Given the description of an element on the screen output the (x, y) to click on. 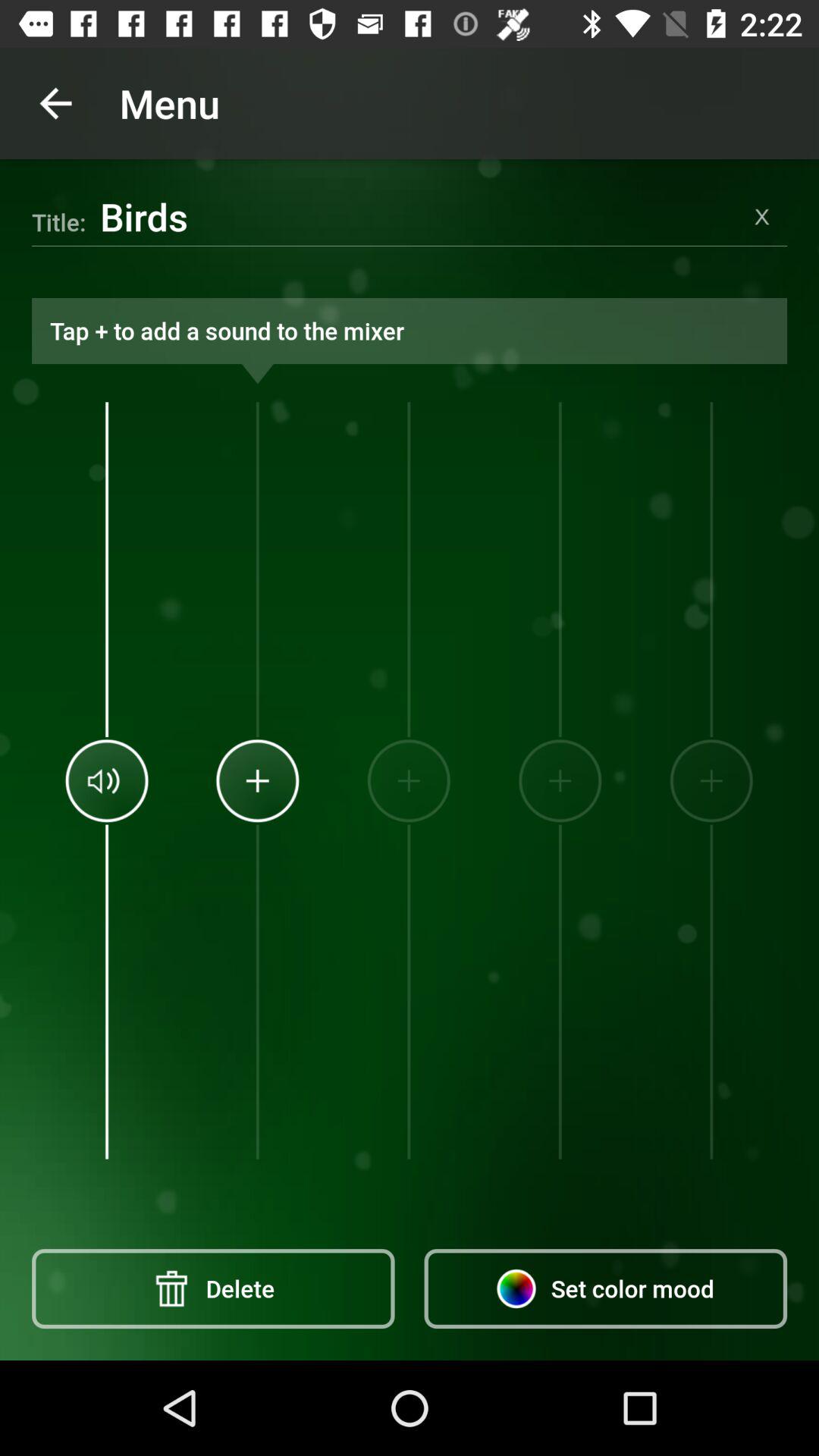
flip until birds (418, 216)
